Given the description of an element on the screen output the (x, y) to click on. 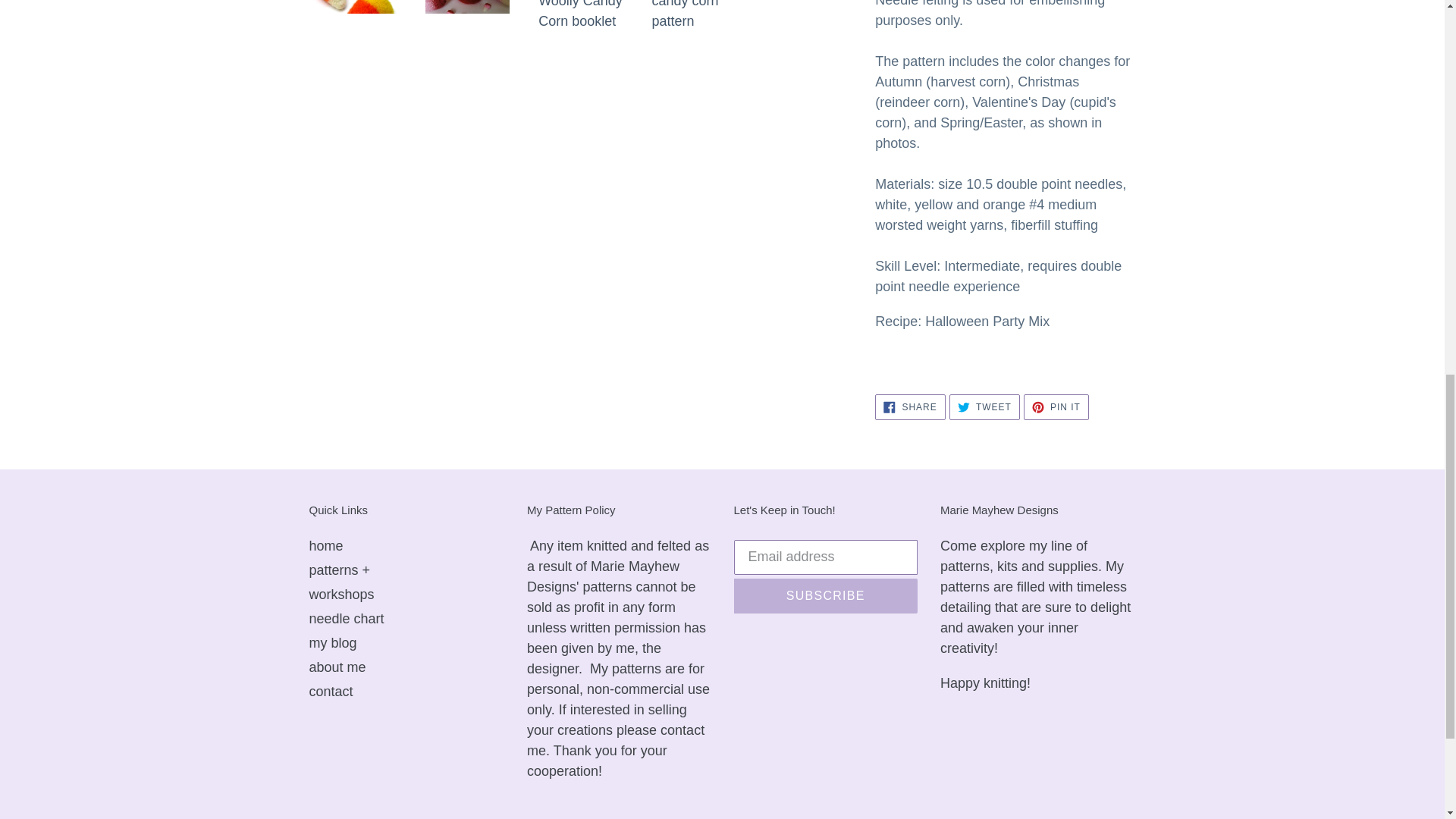
home (325, 545)
my blog (909, 406)
workshops (332, 642)
needle chart (1056, 406)
about me (341, 594)
